Given the description of an element on the screen output the (x, y) to click on. 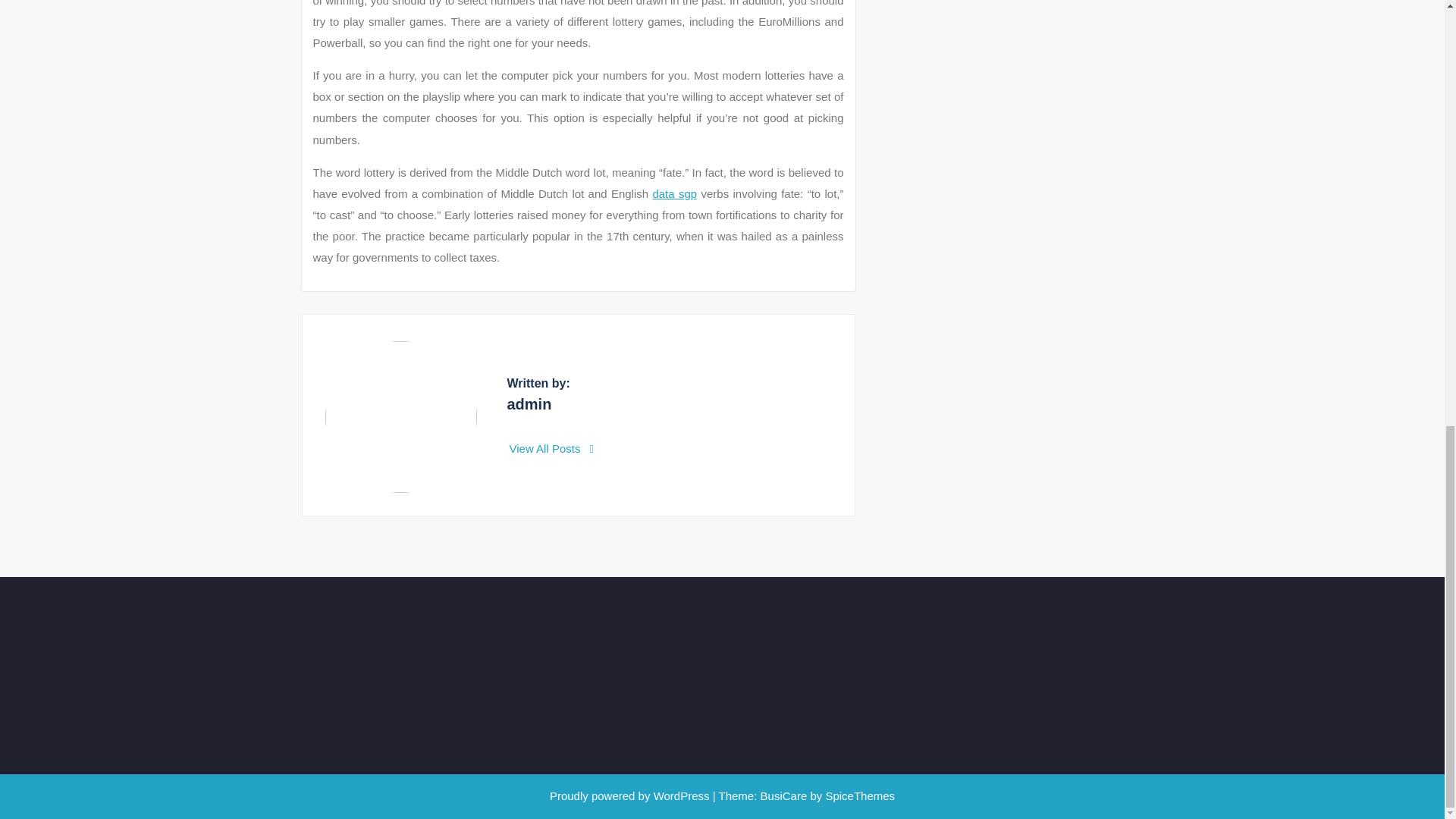
WordPress (681, 795)
SpiceThemes (858, 795)
BusiCare (785, 795)
data sgp (674, 193)
View All Posts (551, 448)
